Given the description of an element on the screen output the (x, y) to click on. 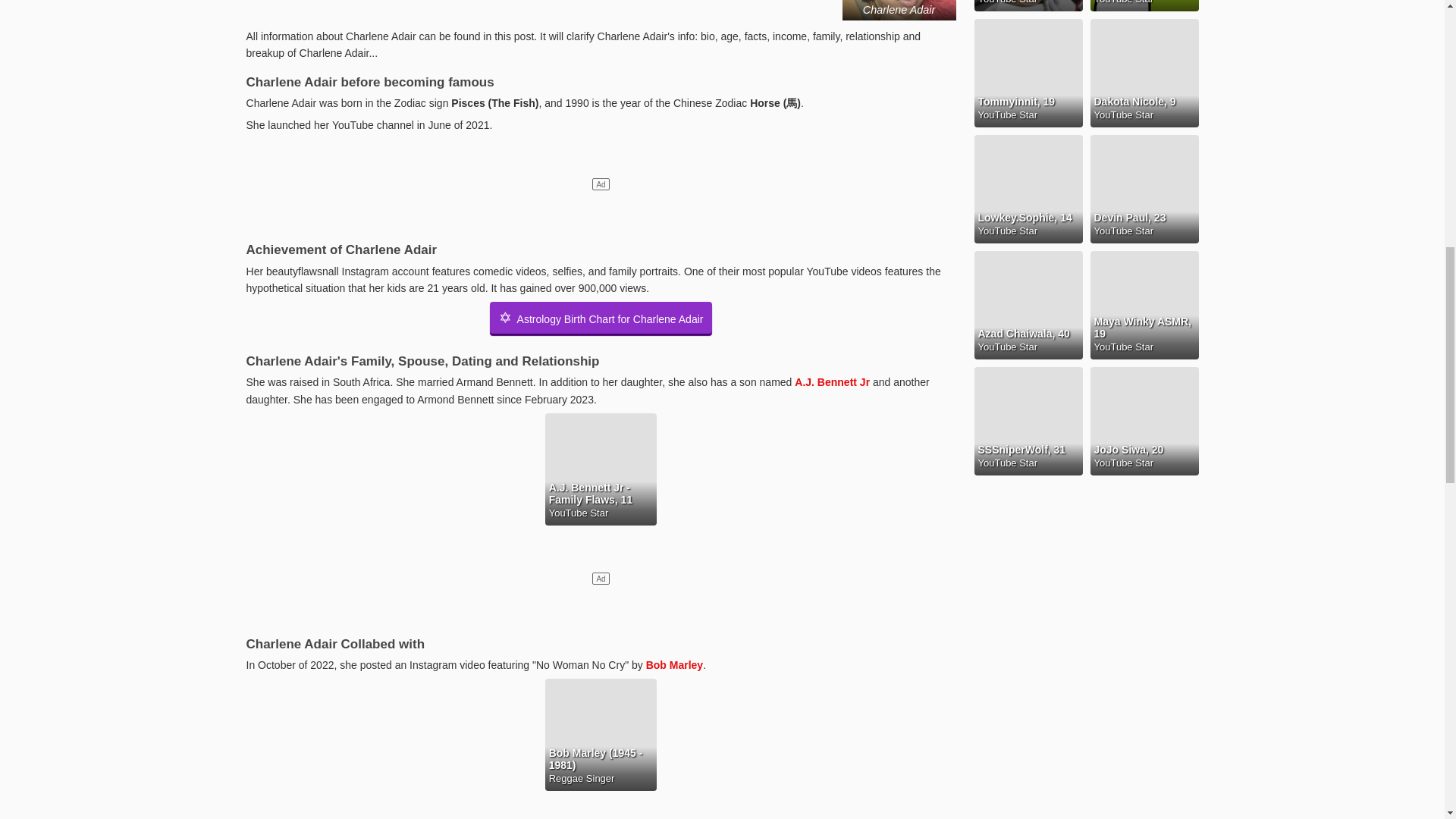
A.J. Bennett Jr - Family Flaws wikipedia (831, 381)
Bob Marley biography (674, 664)
